Given the description of an element on the screen output the (x, y) to click on. 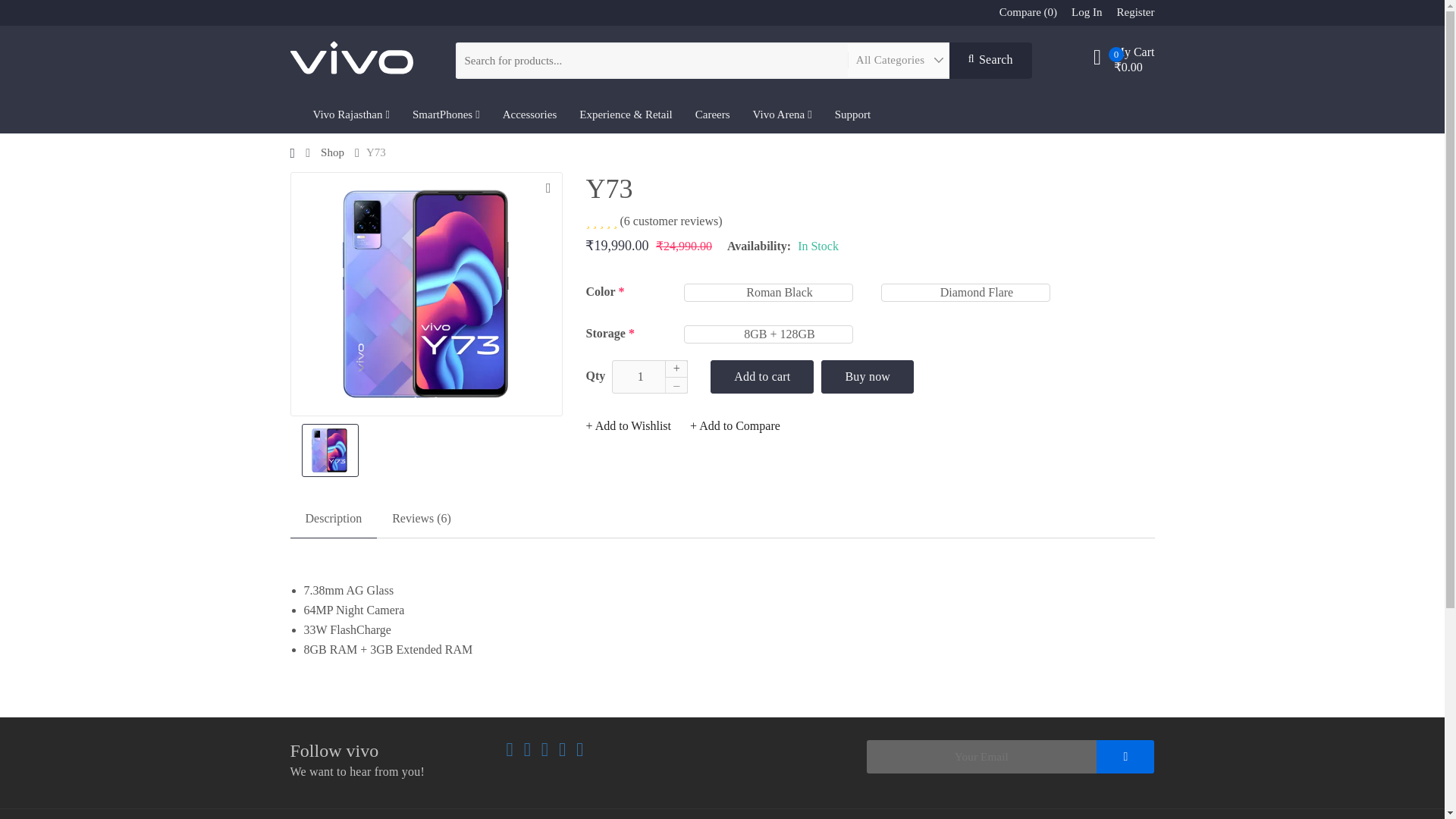
Careers (712, 114)
SmartPhones (446, 114)
7.38mm AG Glass  (728, 590)
Log In (1086, 11)
 33W FlashCharge  (728, 629)
Vivo Rajasthan (351, 114)
Accessories (530, 114)
Support (853, 114)
 64MP Night Camera  (728, 609)
1 (649, 376)
